Given the description of an element on the screen output the (x, y) to click on. 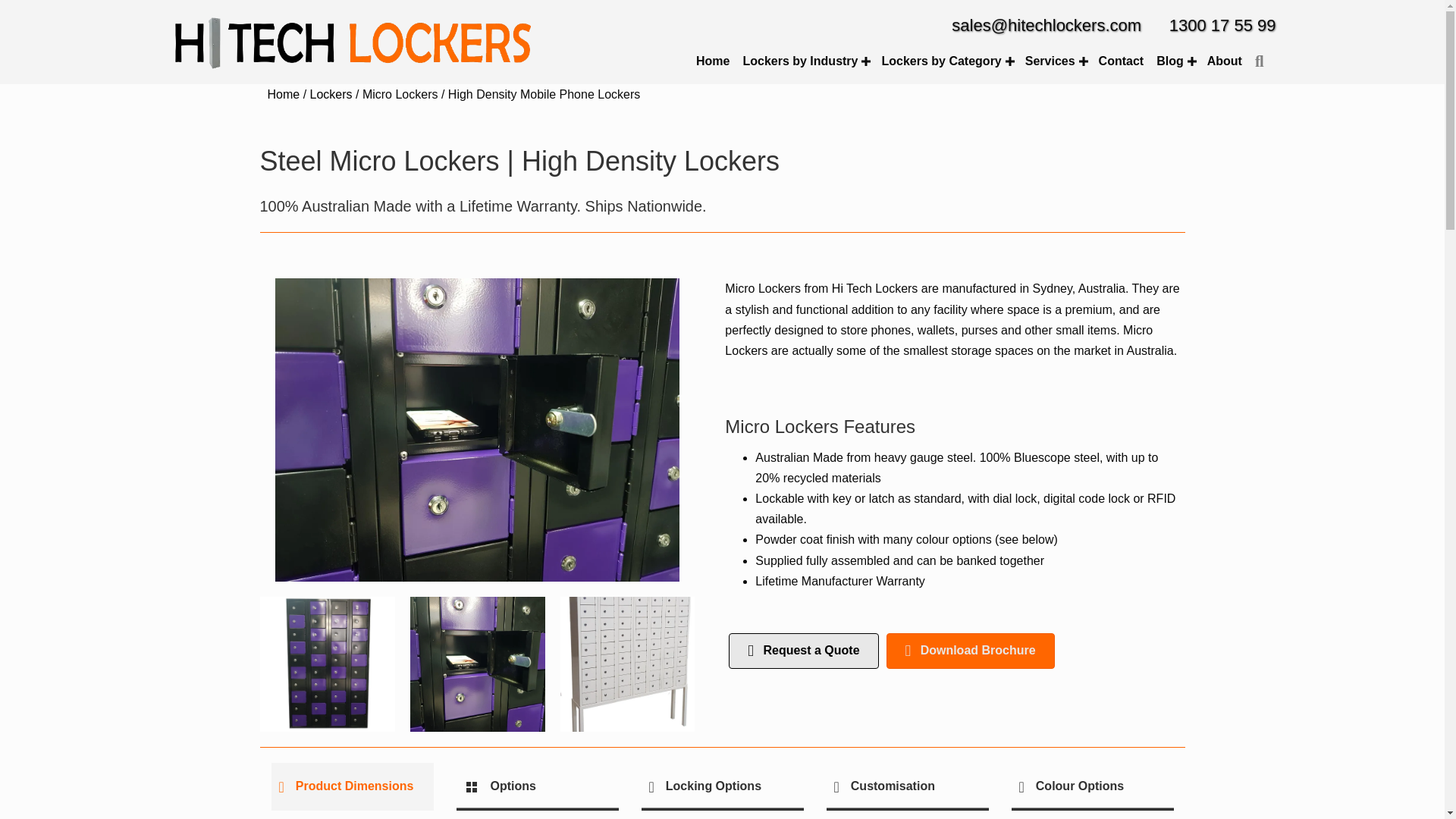
Lockers by Industry (805, 61)
Lockers by Category (946, 61)
Home (712, 61)
Hi tech Lockers Logo PNG SMALL (351, 43)
1300 17 55 99 (1222, 25)
